Given the description of an element on the screen output the (x, y) to click on. 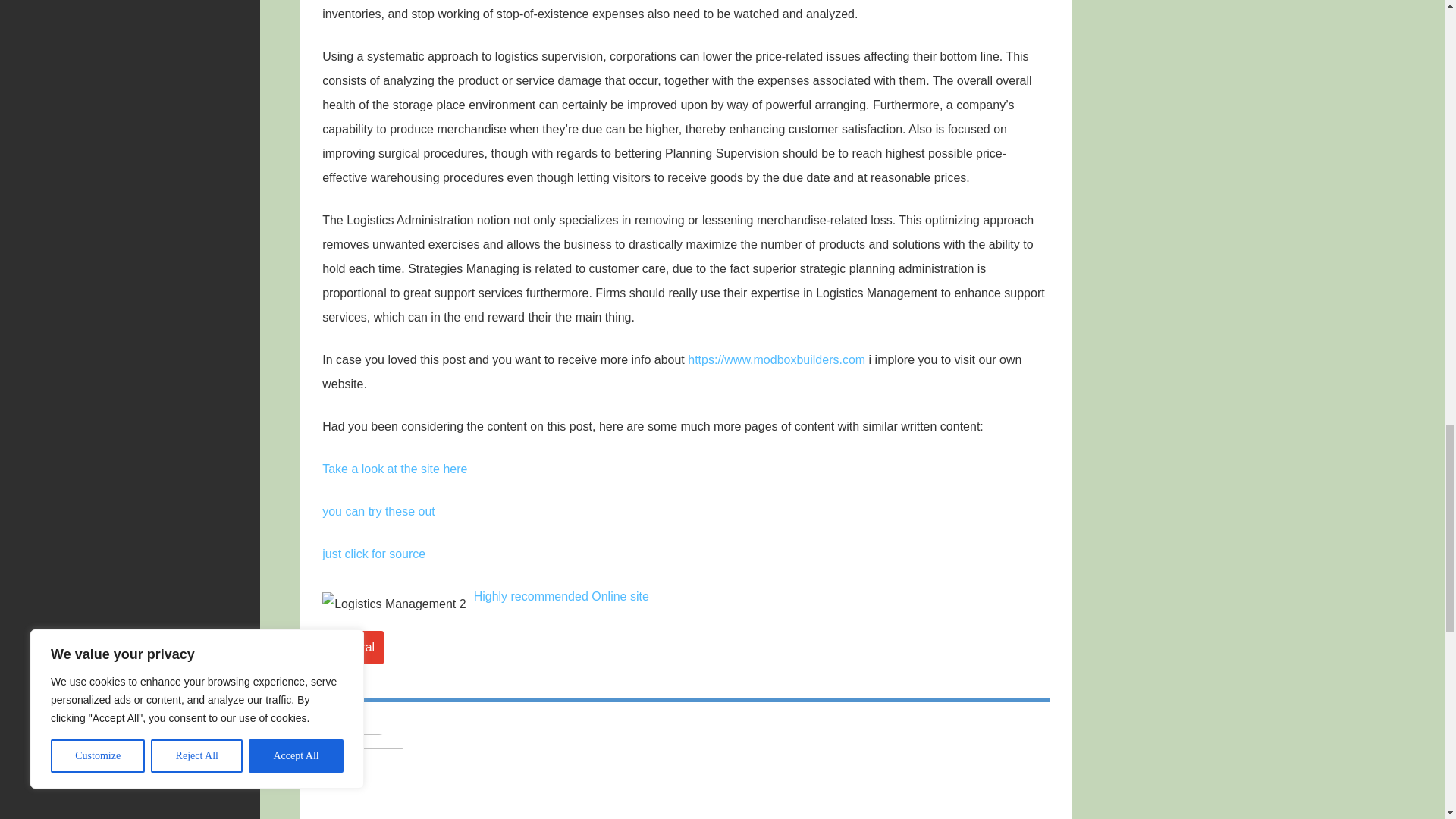
just click for source (373, 553)
General (352, 647)
Highly recommended Online site (561, 595)
Take a look at the site here (394, 468)
you can try these out (378, 511)
